Given the description of an element on the screen output the (x, y) to click on. 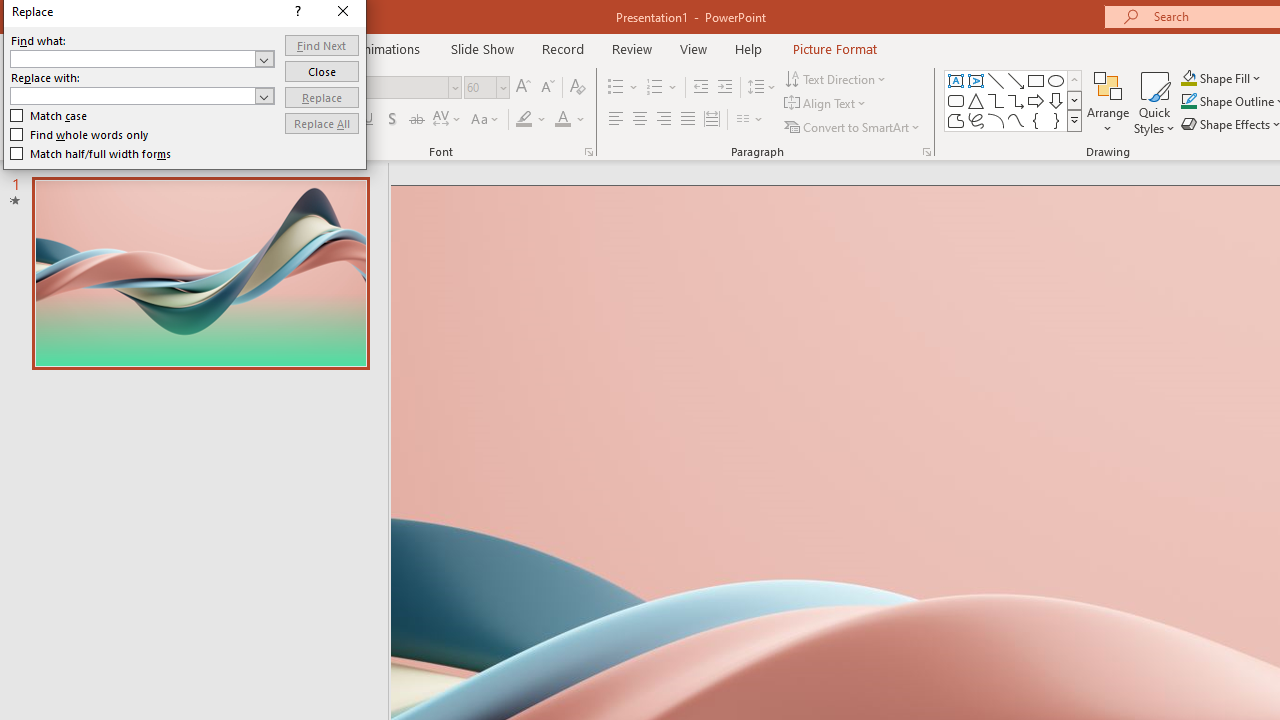
Shape Fill Orange, Accent 2 (1188, 78)
Paragraph... (926, 151)
Picture Format (834, 48)
Freeform: Scribble (975, 120)
Oval (1055, 80)
Font Color Red (562, 119)
Shadow (392, 119)
